Given the description of an element on the screen output the (x, y) to click on. 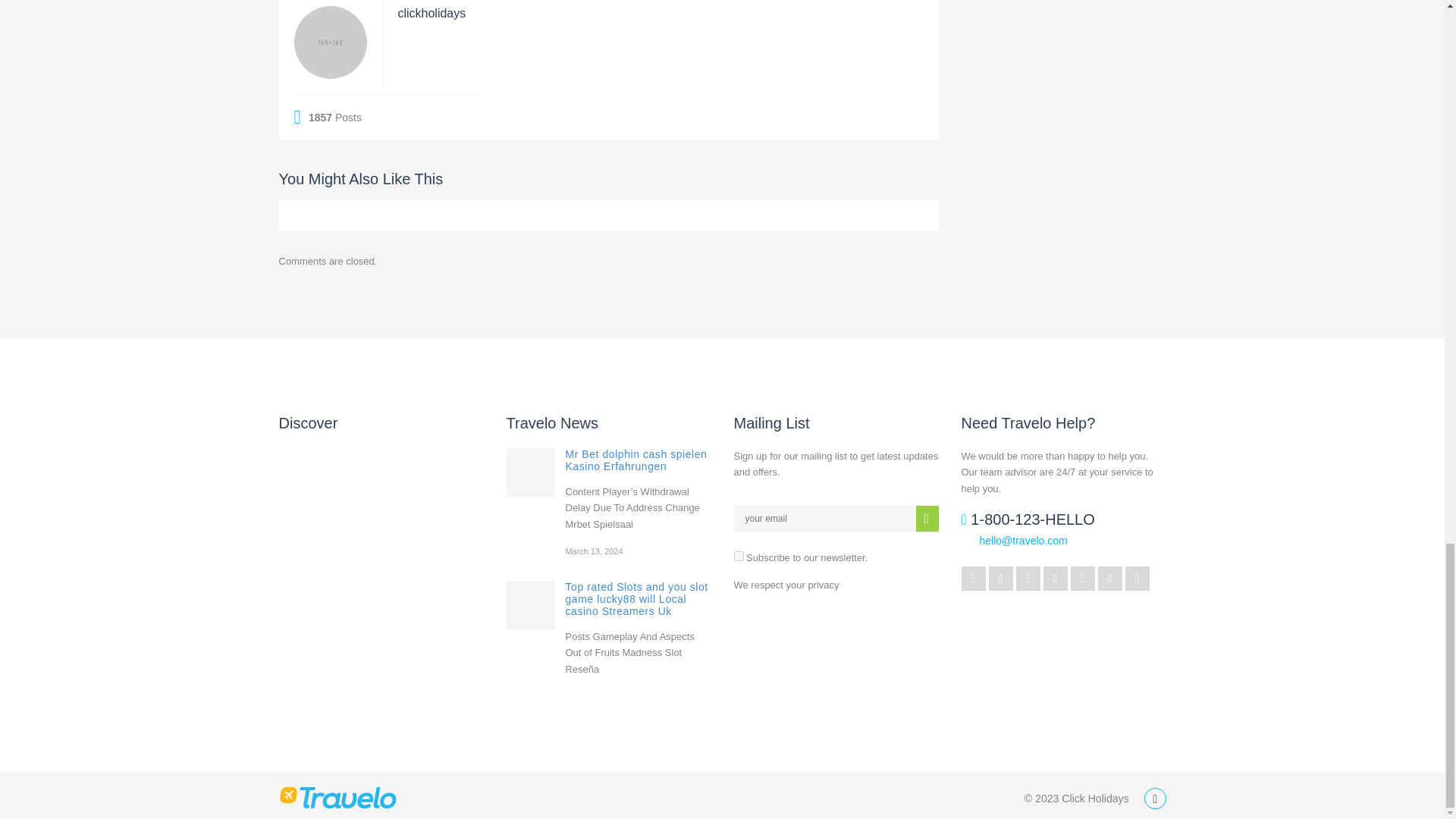
Mr Bet dolphin cash spielen Kasino Erfahrungen (530, 471)
youtube (1082, 578)
Posts by clickholidays (431, 12)
facebook (1028, 578)
googleplus (1000, 578)
1 (738, 556)
linkedin (1055, 578)
twitter (972, 578)
Mr Bet dolphin cash spielen Kasino Erfahrungen (636, 459)
